Given the description of an element on the screen output the (x, y) to click on. 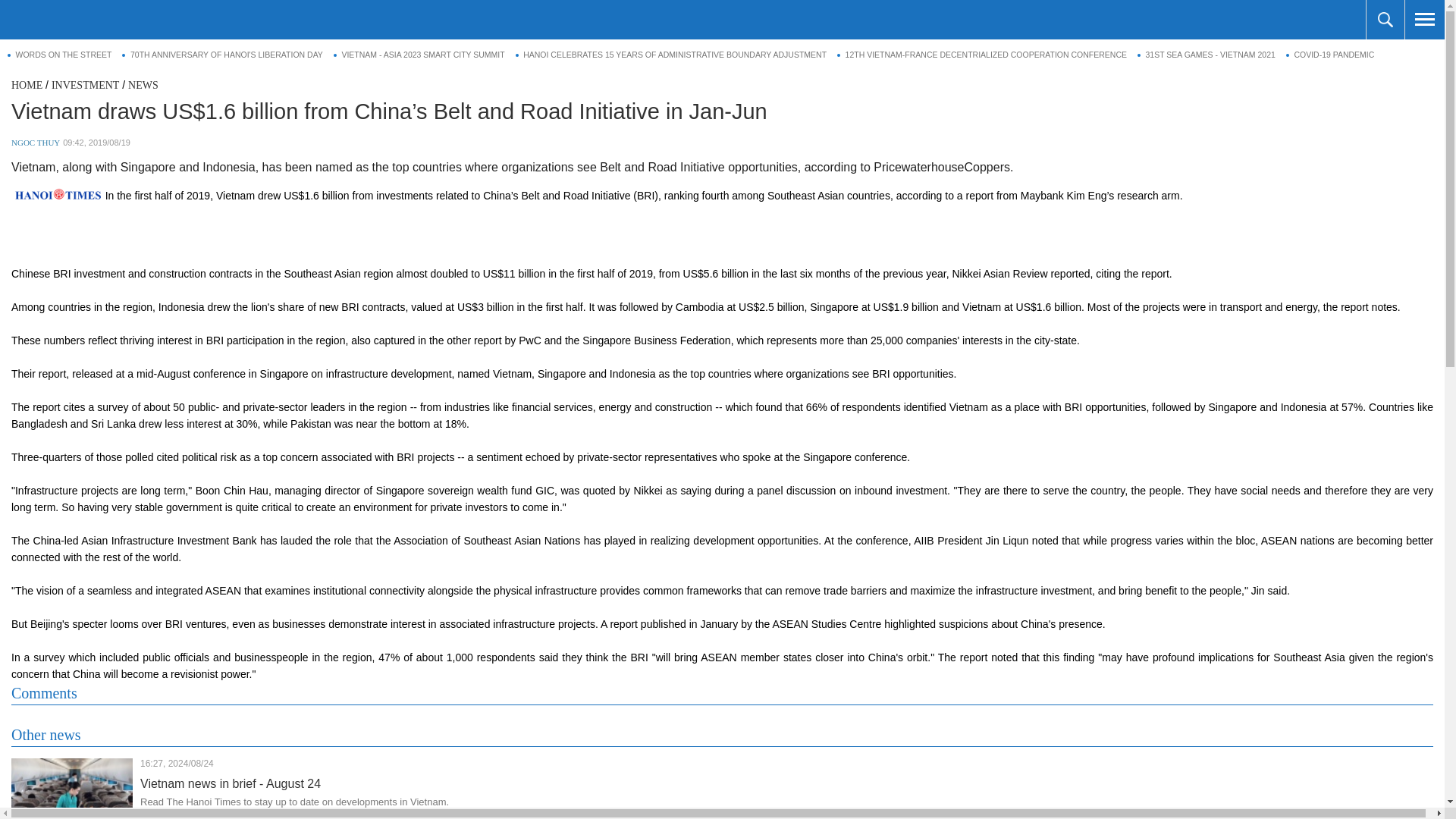
HOME (26, 85)
Other news (46, 734)
NGOC THUY (35, 142)
31st Sea Games - Vietnam 2021 (1206, 54)
70TH ANNIVERSARY OF HANOI'S LIBERATION DAY (221, 54)
Comments (44, 693)
12TH VIETNAM-FRANCE DECENTRIALIZED COOPERATION CONFERENCE (981, 54)
31ST SEA GAMES - VIETNAM 2021 (1206, 54)
Covid-19 Pandemic (1329, 54)
